Given the description of an element on the screen output the (x, y) to click on. 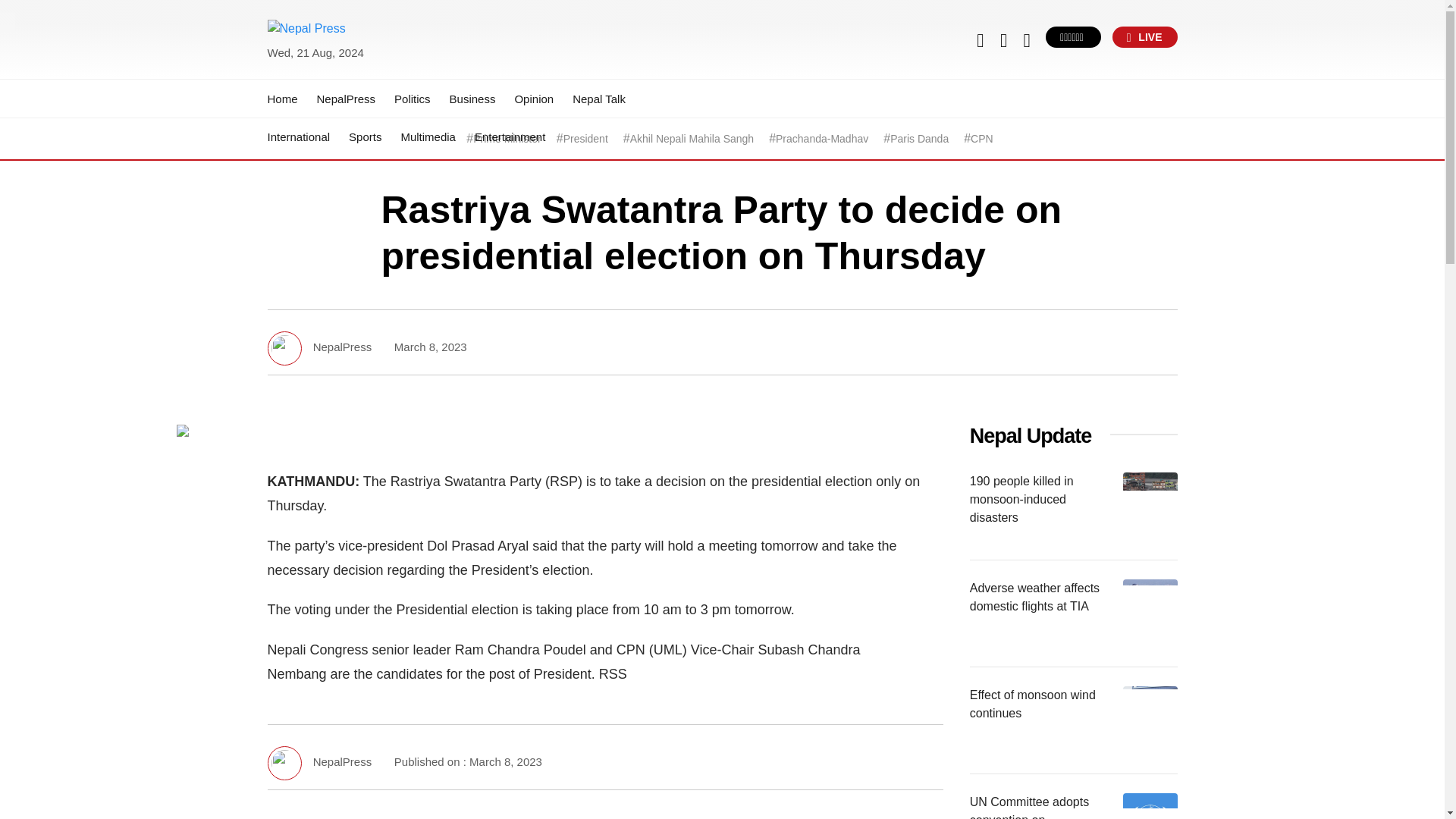
Akhil Nepali Mahila Sangh (692, 139)
Prachanda-Madhav (821, 139)
LIVE (1144, 36)
Paris Danda (919, 139)
Multimedia (427, 136)
Entertainment (509, 136)
NepalPress (346, 98)
CPN (981, 139)
Prachanda-Madhav (821, 139)
Business (472, 98)
